Given the description of an element on the screen output the (x, y) to click on. 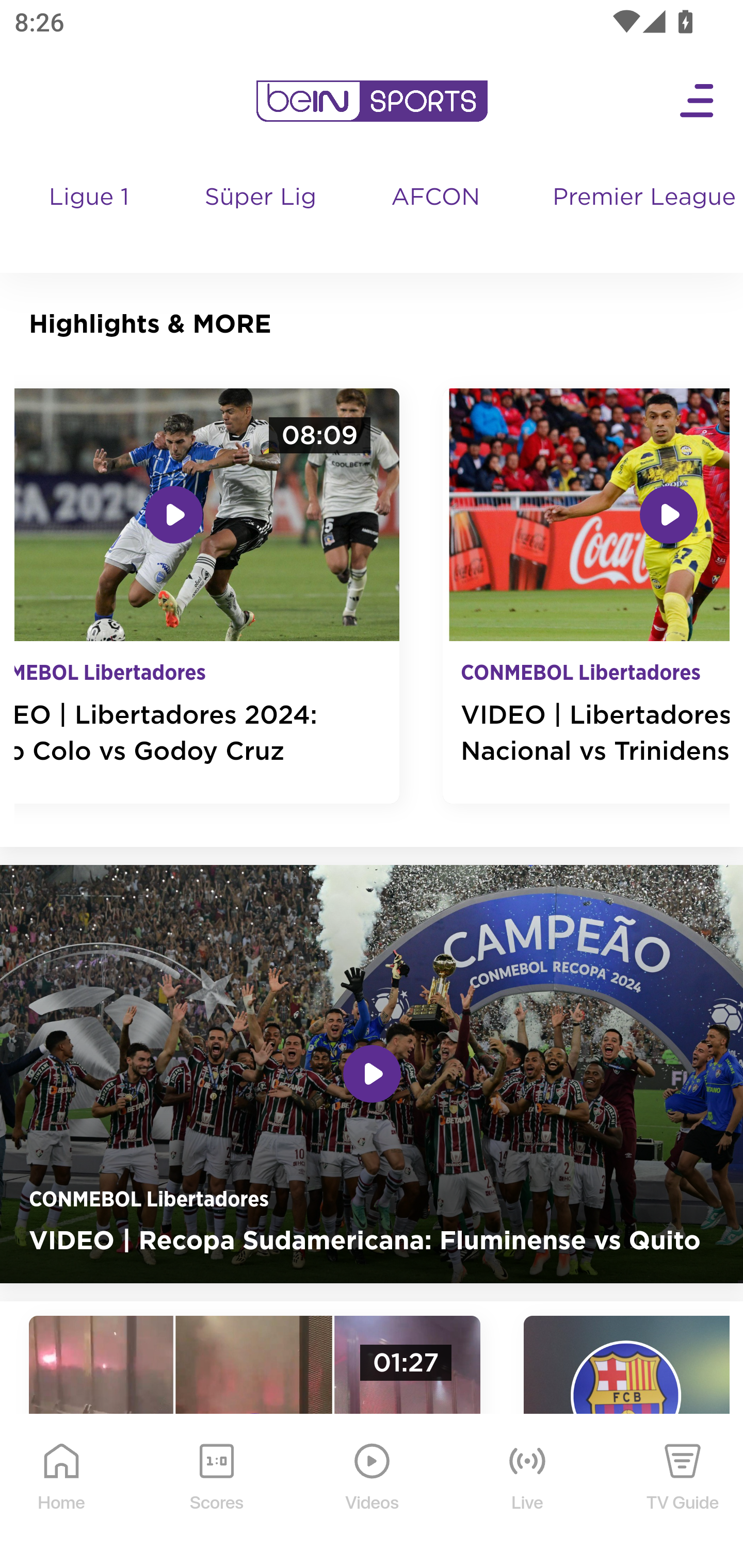
en-us?platform=mobile_android bein logo (371, 101)
Open Menu Icon (697, 101)
Ligue 1 (89, 216)
Süper Lig (261, 216)
AFCON (434, 198)
Premier League (639, 198)
Home Home Icon Home (61, 1491)
Scores Scores Icon Scores (216, 1491)
Videos Videos Icon Videos (372, 1491)
TV Guide TV Guide Icon TV Guide (682, 1491)
